Given the description of an element on the screen output the (x, y) to click on. 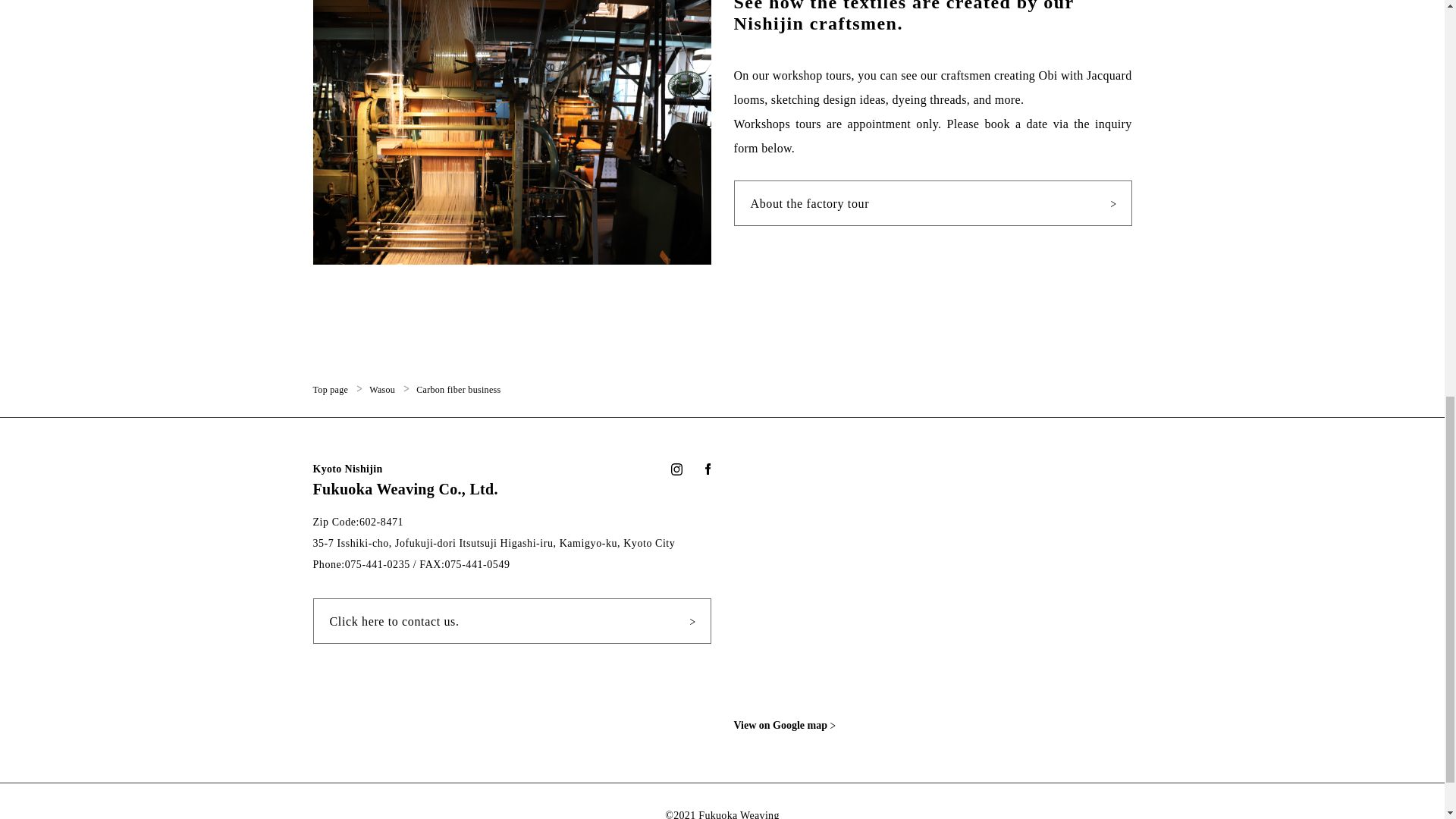
About the factory tour (932, 203)
Carbon fiber business (458, 388)
View on Google map (791, 725)
Click here to contact us. (511, 620)
Top page (330, 388)
Wasou (381, 388)
